Given the description of an element on the screen output the (x, y) to click on. 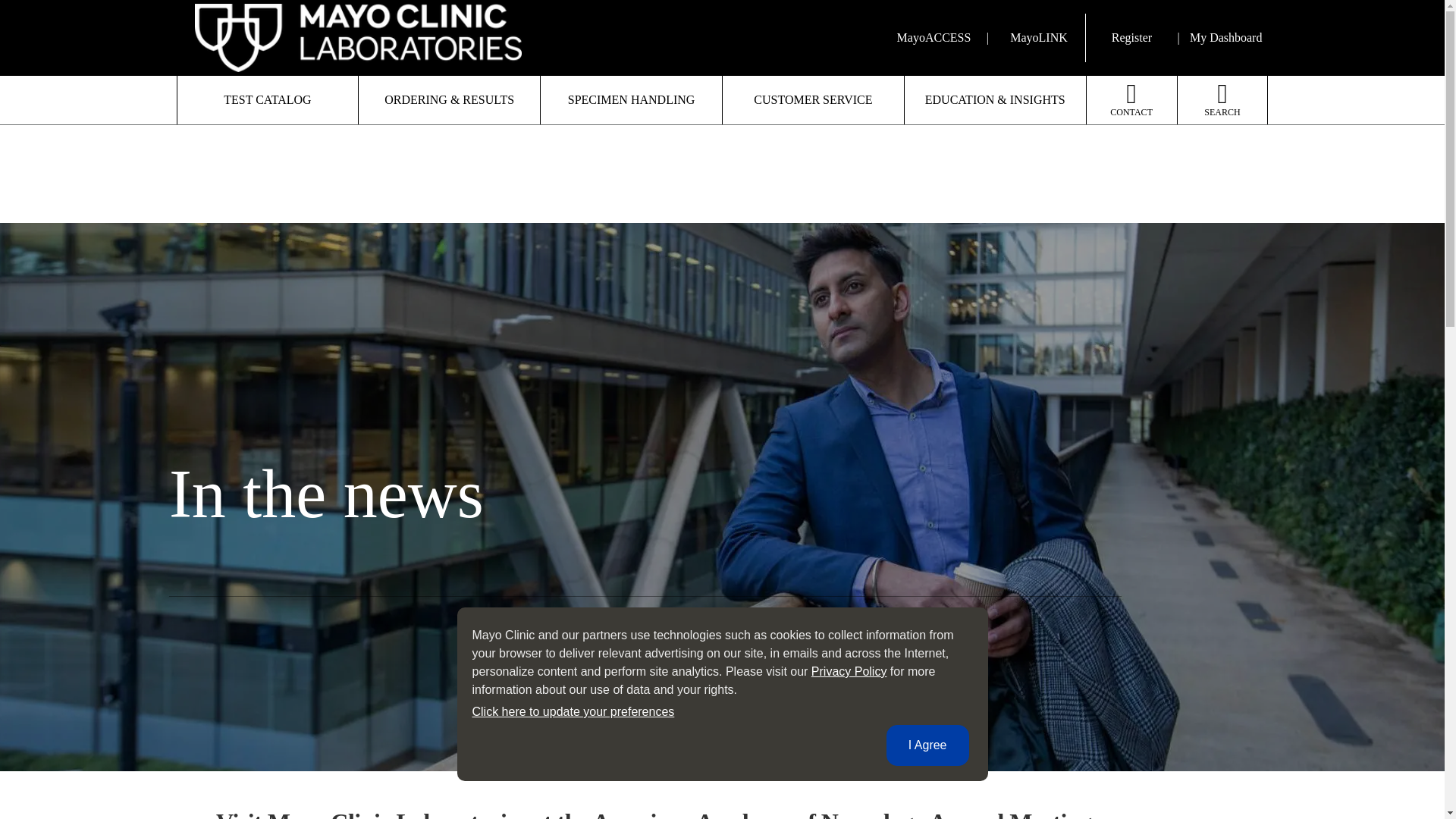
Register (1130, 37)
My Dashboard (1225, 37)
TEST CATALOG (267, 100)
MayoLINK (1038, 37)
MayoACCESS (931, 37)
